Given the description of an element on the screen output the (x, y) to click on. 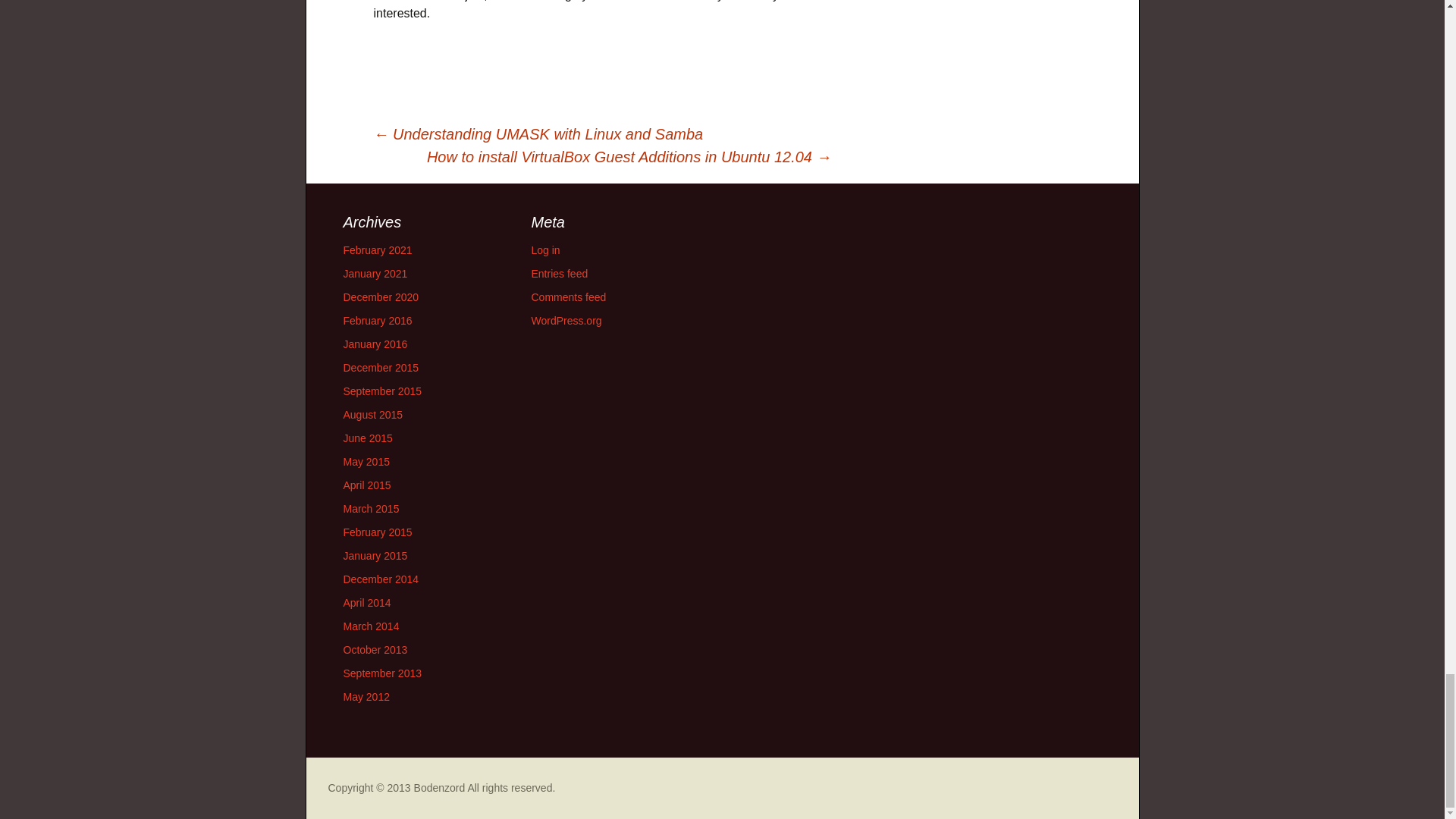
December 2015 (380, 367)
January 2016 (374, 344)
February 2021 (377, 250)
December 2020 (380, 297)
January 2021 (374, 273)
February 2016 (377, 320)
